Given the description of an element on the screen output the (x, y) to click on. 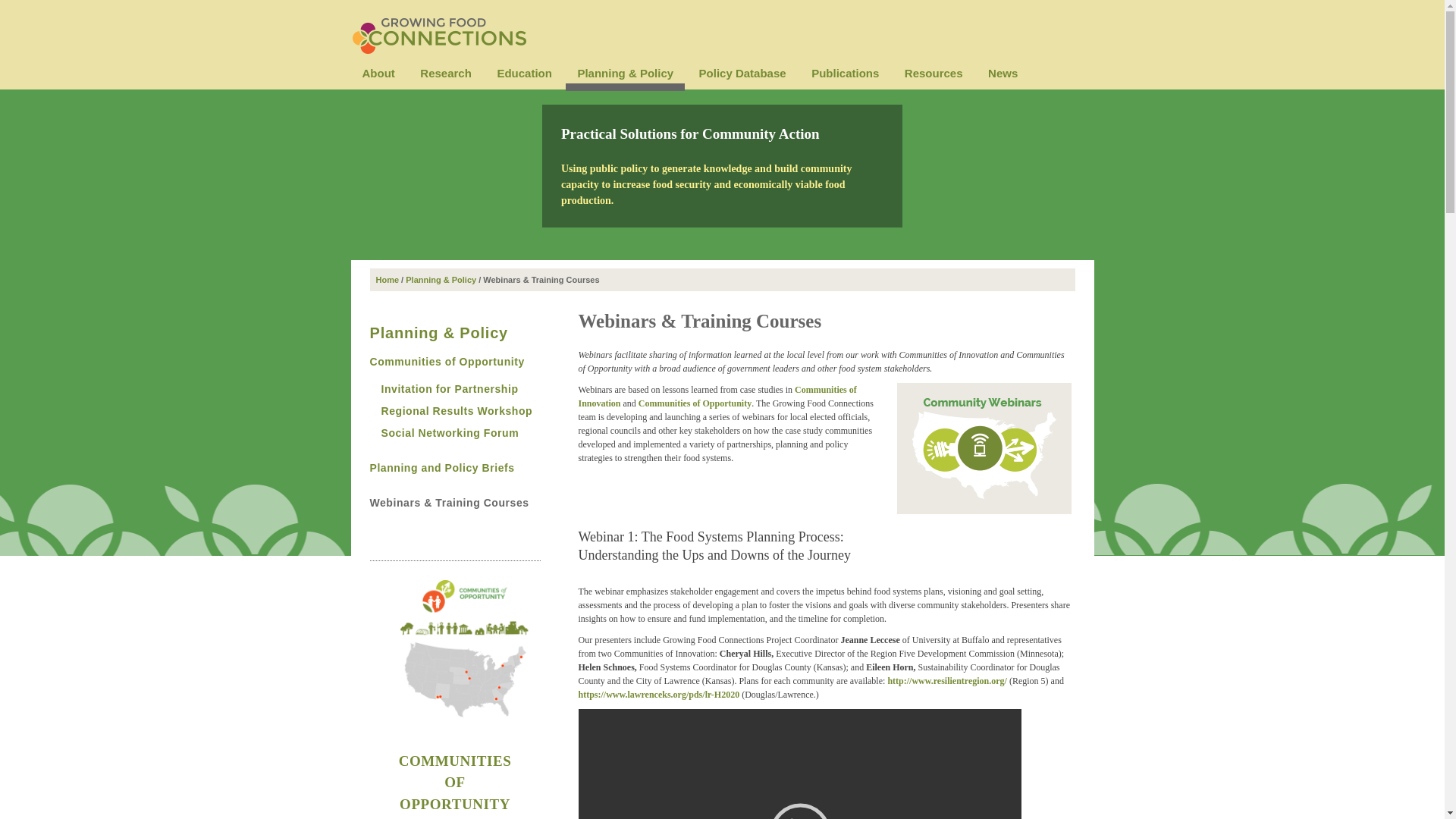
Growing Food Connections (438, 27)
Education (523, 73)
About (378, 73)
Go to Growing Food Connections. (386, 279)
Research (446, 73)
